Given the description of an element on the screen output the (x, y) to click on. 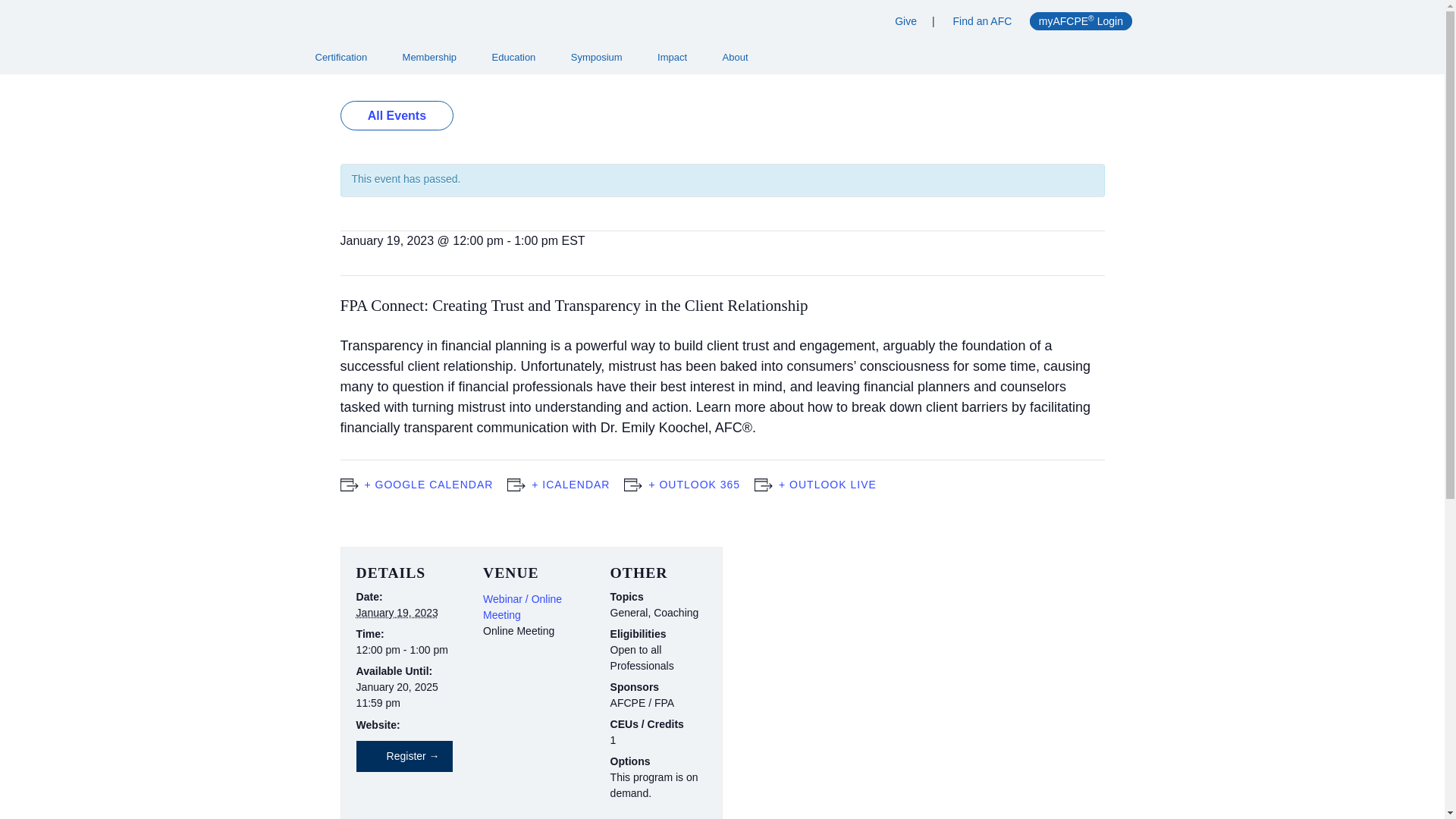
Give (906, 21)
Certification (346, 57)
2023-01-19 (404, 649)
2023-01-19 (397, 612)
Membership (434, 57)
Find an AFC (982, 21)
AFCPE (511, 20)
